Given the description of an element on the screen output the (x, y) to click on. 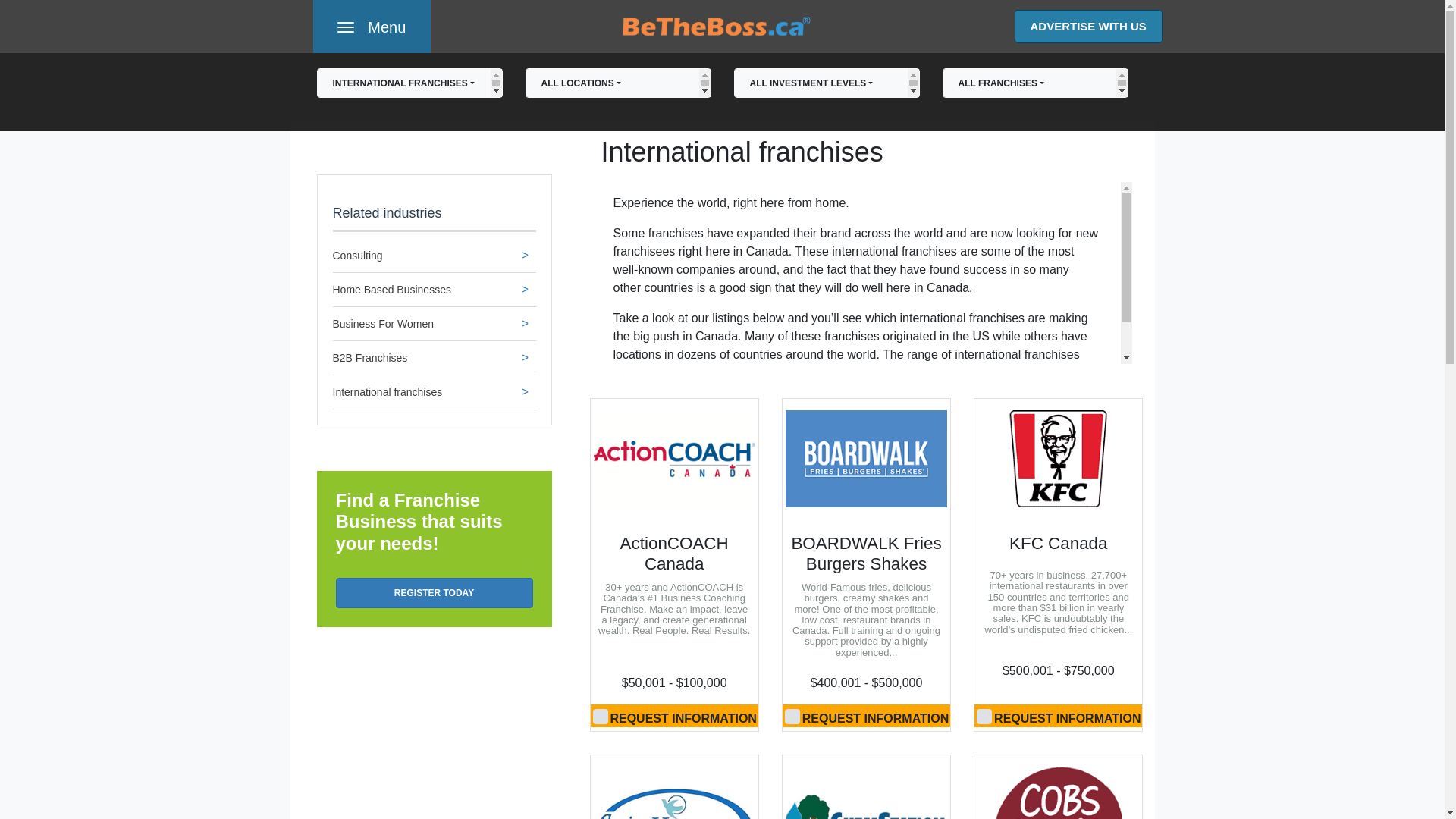
Toggle navigation
  Menu Element type: text (370, 26)
ALL LOCATIONS Element type: text (617, 82)
ADVERTISE WITH US Element type: text (1088, 26)
REGISTER TODAY Element type: text (433, 592)
ALL INVESTMENT LEVELS Element type: text (826, 82)
International franchises
> Element type: text (433, 395)
Consulting
> Element type: text (433, 259)
Business For Women
> Element type: text (433, 327)
Home Based Businesses
> Element type: text (433, 293)
ALL FRANCHISES Element type: text (1034, 82)
B2B Franchises
> Element type: text (433, 361)
INTERNATIONAL FRANCHISES Element type: text (409, 82)
